Given the description of an element on the screen output the (x, y) to click on. 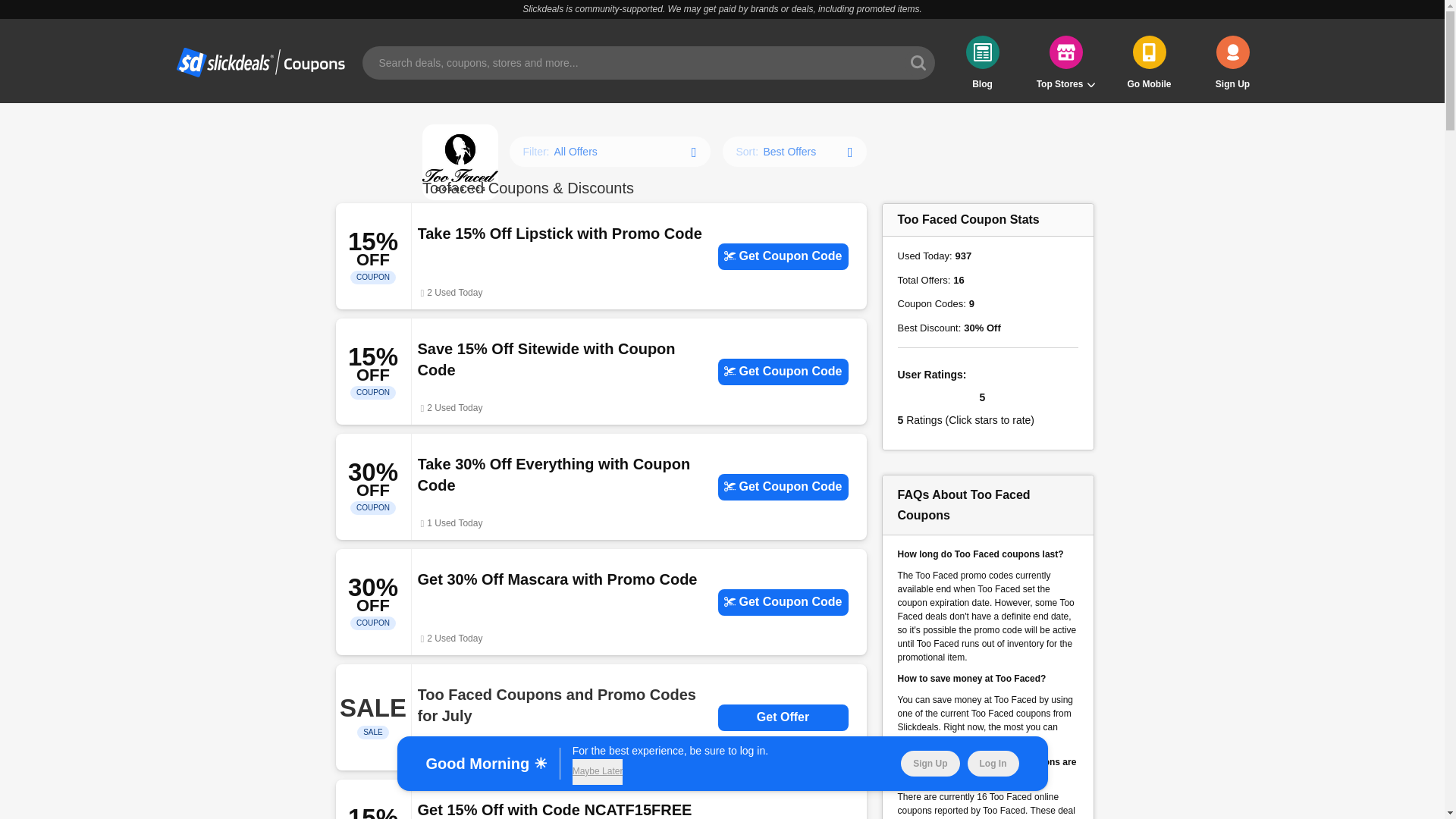
Go Mobile (1149, 62)
Blog (982, 62)
Sign Up (1232, 62)
